Given the description of an element on the screen output the (x, y) to click on. 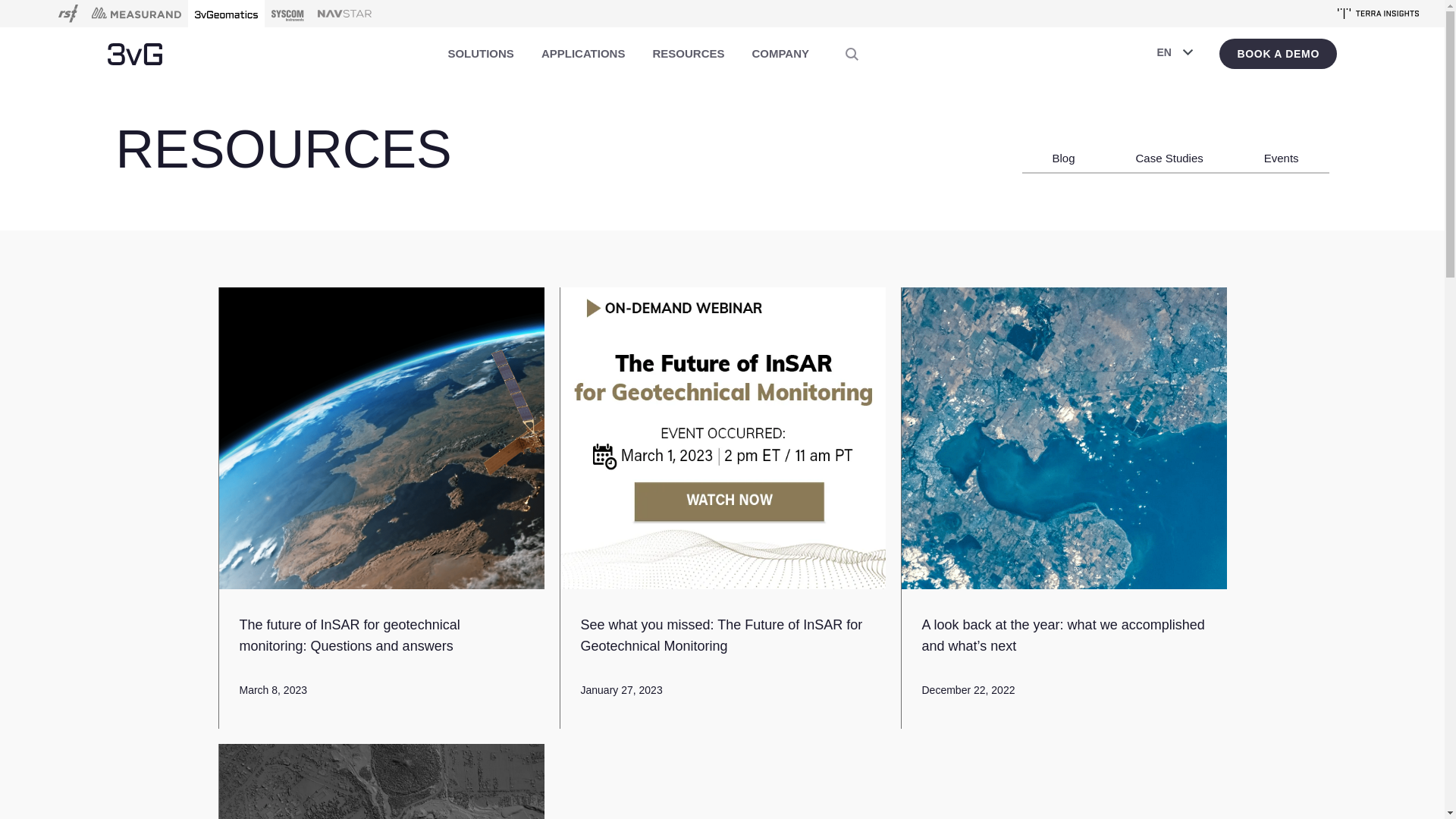
NavStar Element type: hover (344, 13)
Case Studies Element type: text (1169, 147)
Blog Element type: text (1063, 147)
RESOURCES Element type: text (688, 53)
RST Instruments Element type: hover (67, 13)
3vGeomatics Element type: hover (134, 53)
SYSCOM Instruments Element type: hover (287, 13)
COMPANY Element type: text (780, 53)
BOOK A DEMO Element type: text (1277, 53)
SOLUTIONS Element type: text (480, 53)
Measurand Element type: hover (136, 13)
APPLICATIONS Element type: text (583, 53)
Terra Insights Element type: hover (1377, 13)
TOGGLE SEARCH Element type: text (851, 53)
Events Element type: text (1281, 147)
3vGeomatics Element type: hover (226, 13)
